Given the description of an element on the screen output the (x, y) to click on. 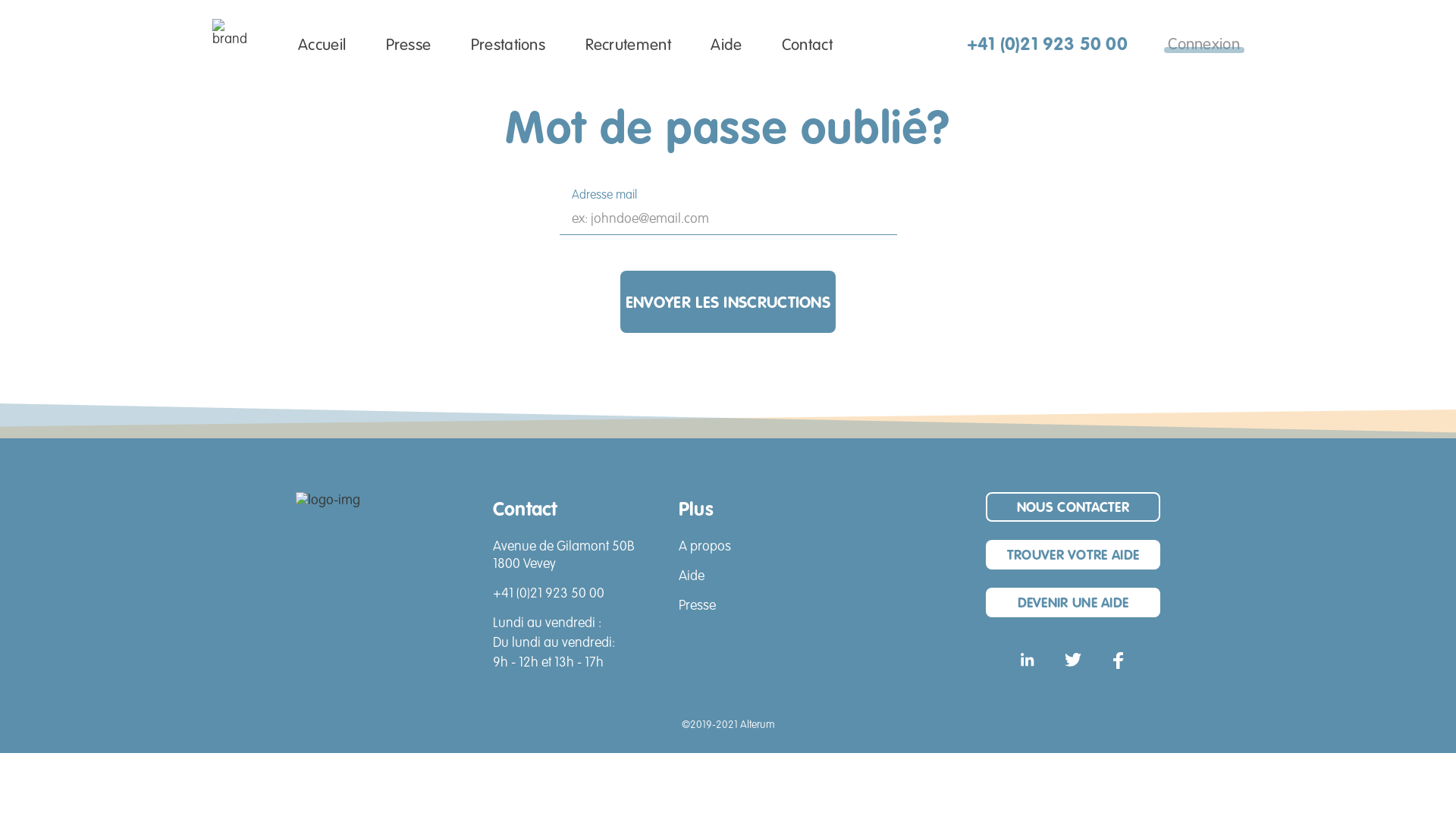
Presse Element type: text (408, 45)
Accueil Element type: text (321, 45)
Contact Element type: text (806, 45)
A propos Element type: text (704, 546)
Recrutement Element type: text (628, 45)
+41 (0)21 923 50 00 Element type: text (1046, 44)
Aide Element type: text (725, 45)
Envoyer les inscructions Element type: text (727, 301)
NOUS CONTACTER Element type: text (1072, 506)
Connexion Element type: text (1203, 44)
TROUVER VOTRE AIDE Element type: text (1072, 554)
Aide Element type: text (691, 576)
+41 (0)21 923 50 00 Element type: text (548, 593)
Presse Element type: text (696, 606)
Prestations Element type: text (507, 45)
DEVENIR UNE AIDE Element type: text (1072, 602)
